Given the description of an element on the screen output the (x, y) to click on. 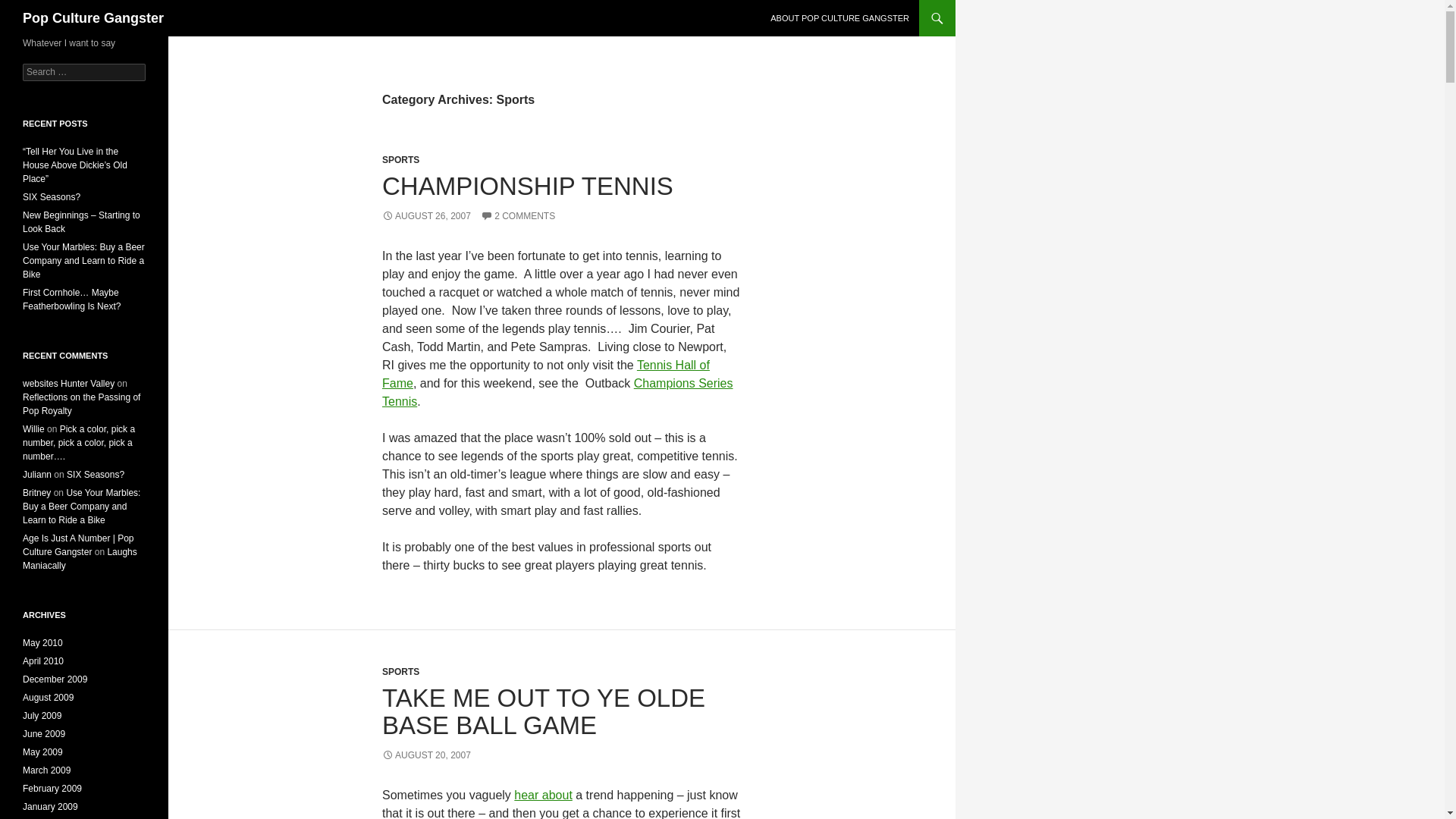
Tennis Hall of Fame (545, 373)
TAKE ME OUT TO YE OLDE BASE BALL GAME (542, 711)
hear about (542, 794)
CHAMPIONSHIP TENNIS (526, 185)
Champions Series Tennis (556, 391)
Pop Culture Gangster (93, 18)
SPORTS (400, 671)
AUGUST 26, 2007 (425, 215)
2 COMMENTS (517, 215)
AUGUST 20, 2007 (425, 755)
